Given the description of an element on the screen output the (x, y) to click on. 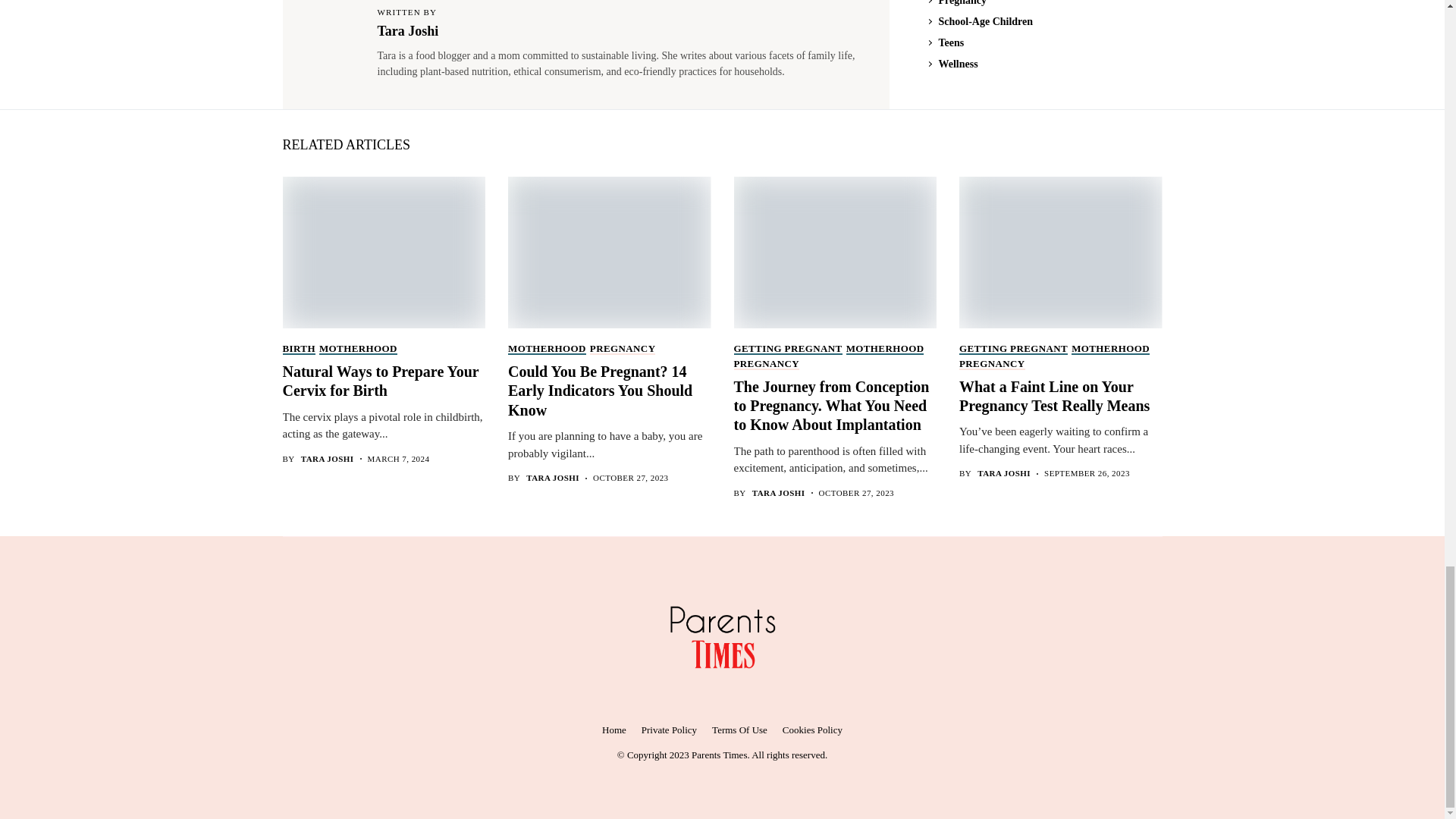
Posts by Tara Joshi (552, 478)
Posts by Tara Joshi (327, 459)
Posts by Tara Joshi (778, 492)
Posts by Tara Joshi (1003, 473)
